Given the description of an element on the screen output the (x, y) to click on. 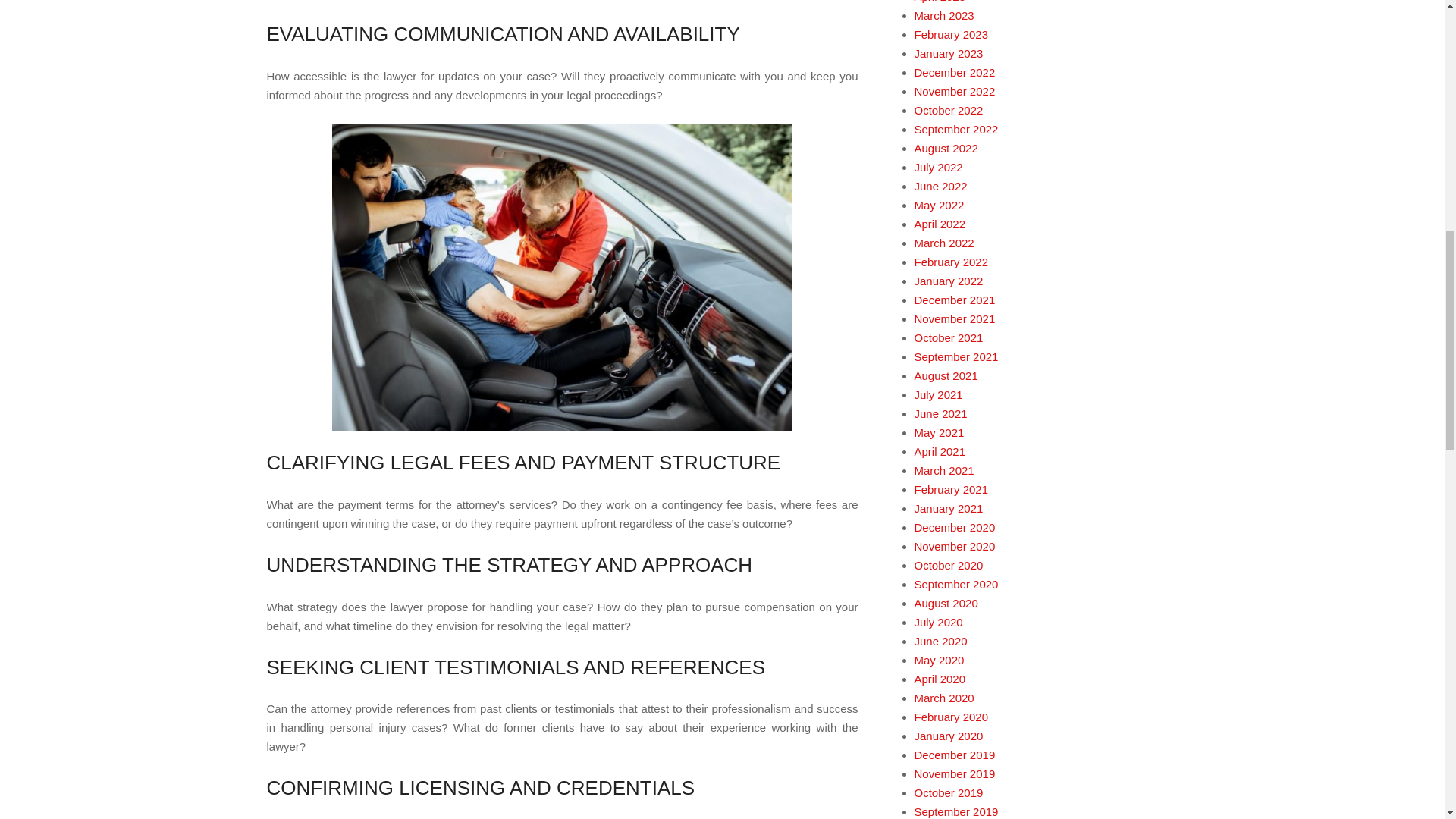
January 2023 (949, 52)
September 2022 (956, 128)
December 2022 (954, 72)
October 2022 (949, 110)
March 2023 (944, 15)
April 2023 (940, 1)
August 2022 (946, 147)
February 2023 (951, 33)
November 2022 (954, 91)
